Given the description of an element on the screen output the (x, y) to click on. 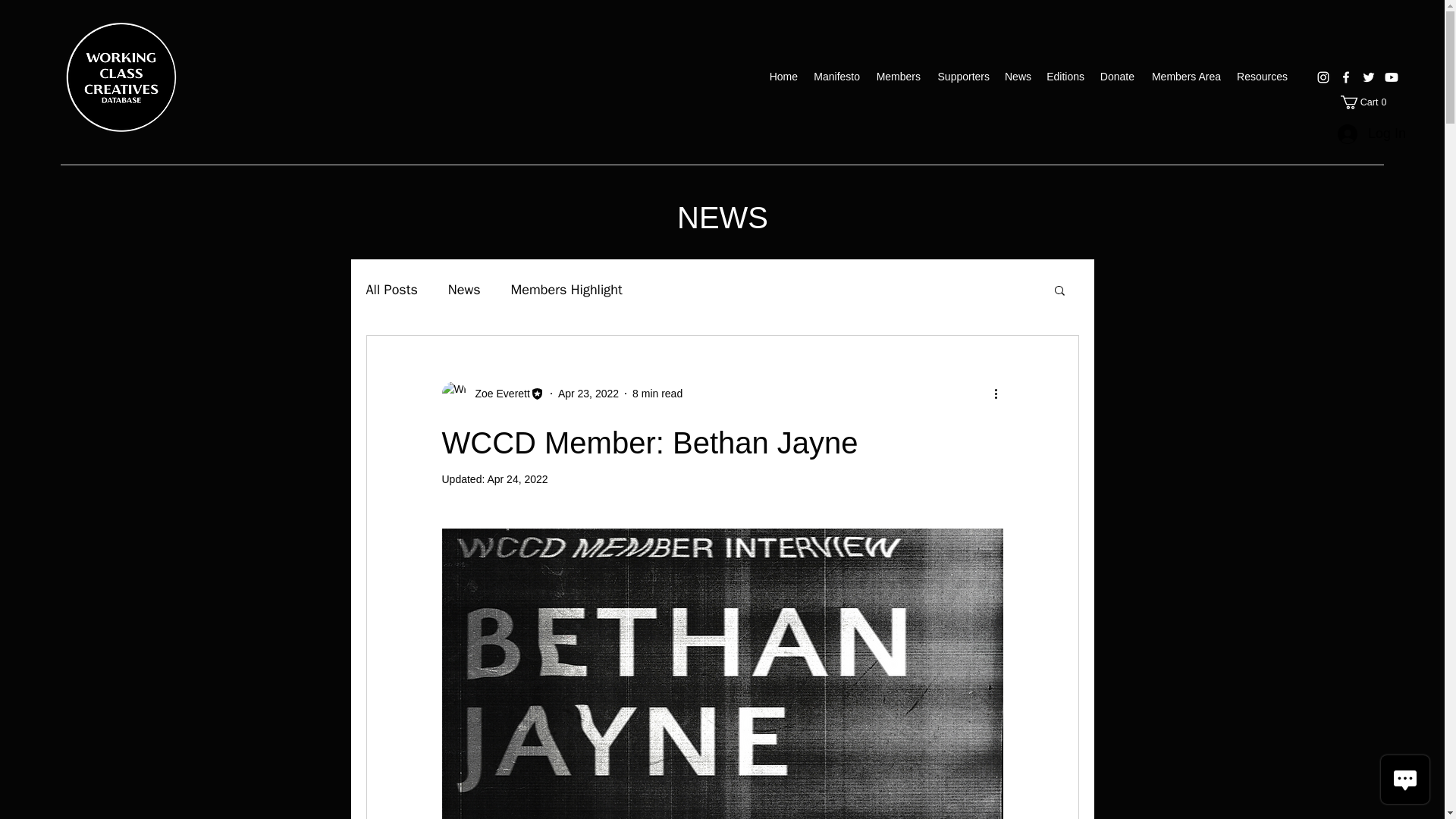
Donate (1365, 101)
Manifesto (1116, 76)
Zoe Everett (836, 76)
Apr 24, 2022 (497, 392)
Apr 23, 2022 (516, 479)
Members (587, 392)
Log In (897, 76)
All Posts (1358, 133)
Resources (390, 289)
News (1261, 76)
Members Area (464, 289)
News (1184, 76)
Zoe Everett (1018, 76)
